Given the description of an element on the screen output the (x, y) to click on. 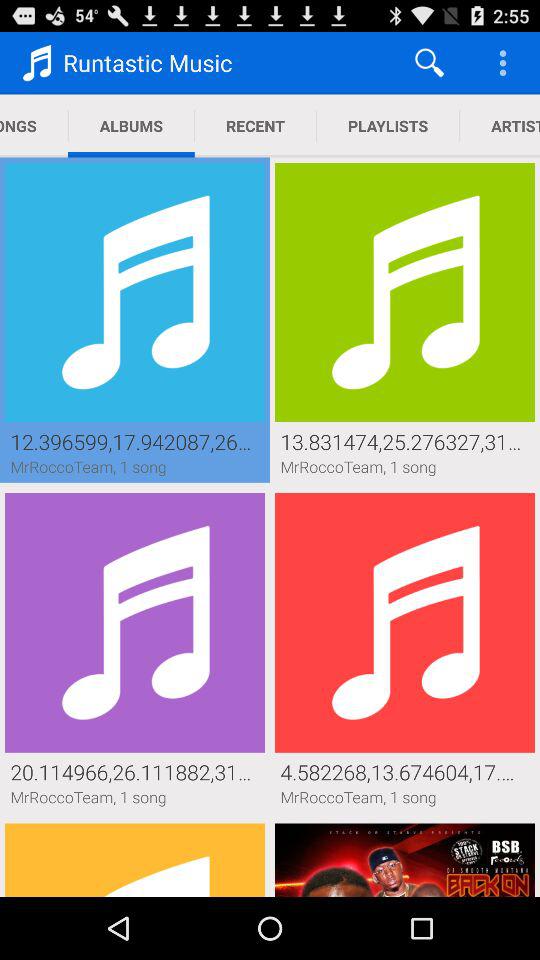
tap the artists icon (499, 125)
